Given the description of an element on the screen output the (x, y) to click on. 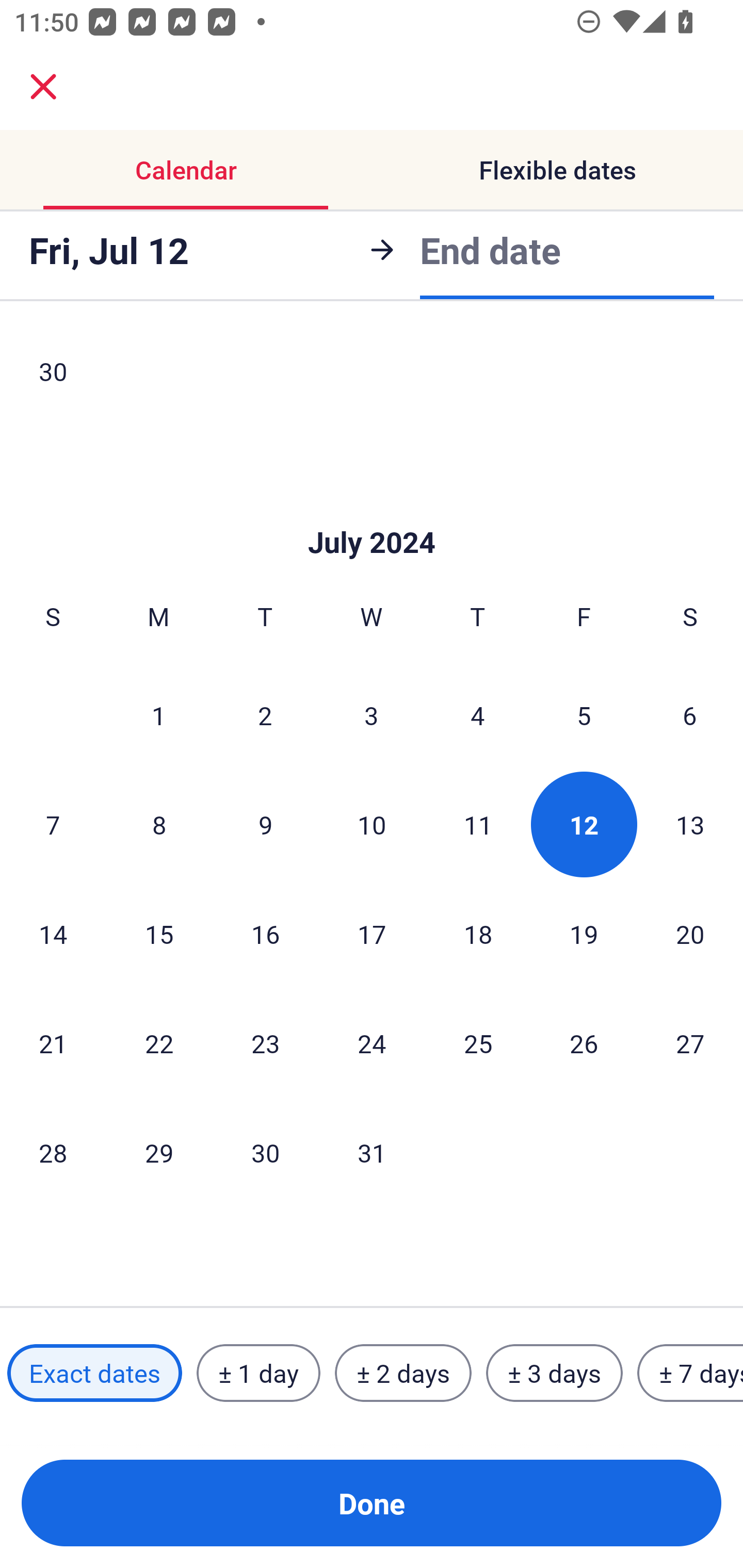
close. (43, 86)
Flexible dates (557, 170)
End date (489, 249)
30 Sunday, June 30, 2024 (53, 376)
Skip to Done (371, 511)
1 Monday, July 1, 2024 (158, 714)
2 Tuesday, July 2, 2024 (264, 714)
3 Wednesday, July 3, 2024 (371, 714)
4 Thursday, July 4, 2024 (477, 714)
5 Friday, July 5, 2024 (583, 714)
6 Saturday, July 6, 2024 (689, 714)
7 Sunday, July 7, 2024 (53, 824)
8 Monday, July 8, 2024 (159, 824)
9 Tuesday, July 9, 2024 (265, 824)
10 Wednesday, July 10, 2024 (371, 824)
11 Thursday, July 11, 2024 (477, 824)
13 Saturday, July 13, 2024 (690, 824)
14 Sunday, July 14, 2024 (53, 933)
15 Monday, July 15, 2024 (159, 933)
16 Tuesday, July 16, 2024 (265, 933)
17 Wednesday, July 17, 2024 (371, 933)
18 Thursday, July 18, 2024 (477, 933)
19 Friday, July 19, 2024 (584, 933)
20 Saturday, July 20, 2024 (690, 933)
21 Sunday, July 21, 2024 (53, 1043)
22 Monday, July 22, 2024 (159, 1043)
23 Tuesday, July 23, 2024 (265, 1043)
24 Wednesday, July 24, 2024 (371, 1043)
25 Thursday, July 25, 2024 (477, 1043)
26 Friday, July 26, 2024 (584, 1043)
27 Saturday, July 27, 2024 (690, 1043)
28 Sunday, July 28, 2024 (53, 1152)
29 Monday, July 29, 2024 (159, 1152)
30 Tuesday, July 30, 2024 (265, 1152)
31 Wednesday, July 31, 2024 (371, 1152)
Exact dates (94, 1372)
± 1 day (258, 1372)
± 2 days (403, 1372)
± 3 days (553, 1372)
± 7 days (690, 1372)
Done (371, 1502)
